Given the description of an element on the screen output the (x, y) to click on. 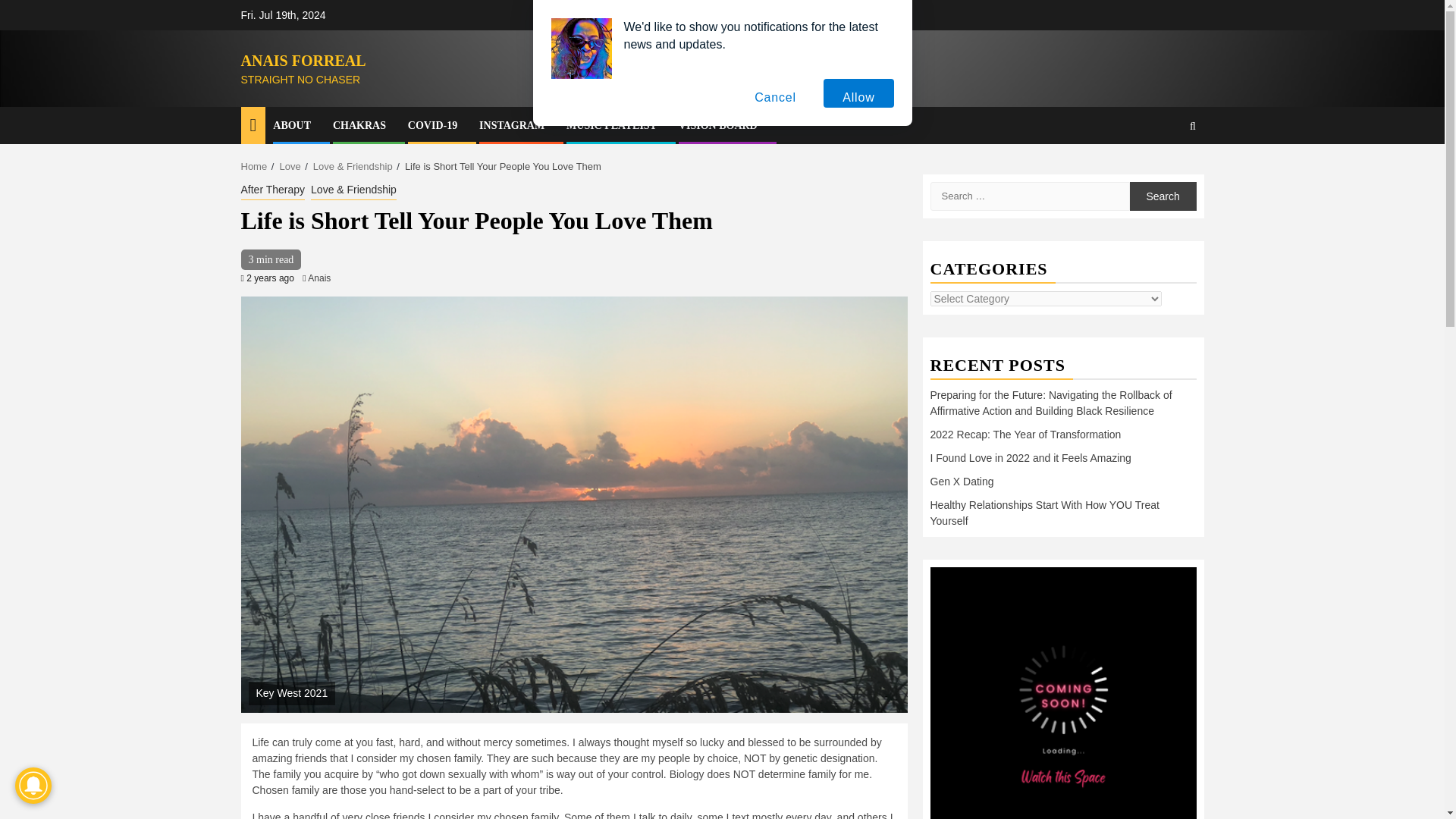
After Therapy (273, 190)
Search (1162, 195)
Search (1162, 195)
Love (289, 165)
ANAIS FORREAL (303, 60)
COVID-19 (432, 125)
VISION BOARD (717, 125)
INSTAGRAM (511, 125)
CHAKRAS (359, 125)
Search (1163, 171)
Anais (318, 277)
Home (254, 165)
MUSIC PLAYLIST (611, 125)
ABOUT (292, 125)
